Given the description of an element on the screen output the (x, y) to click on. 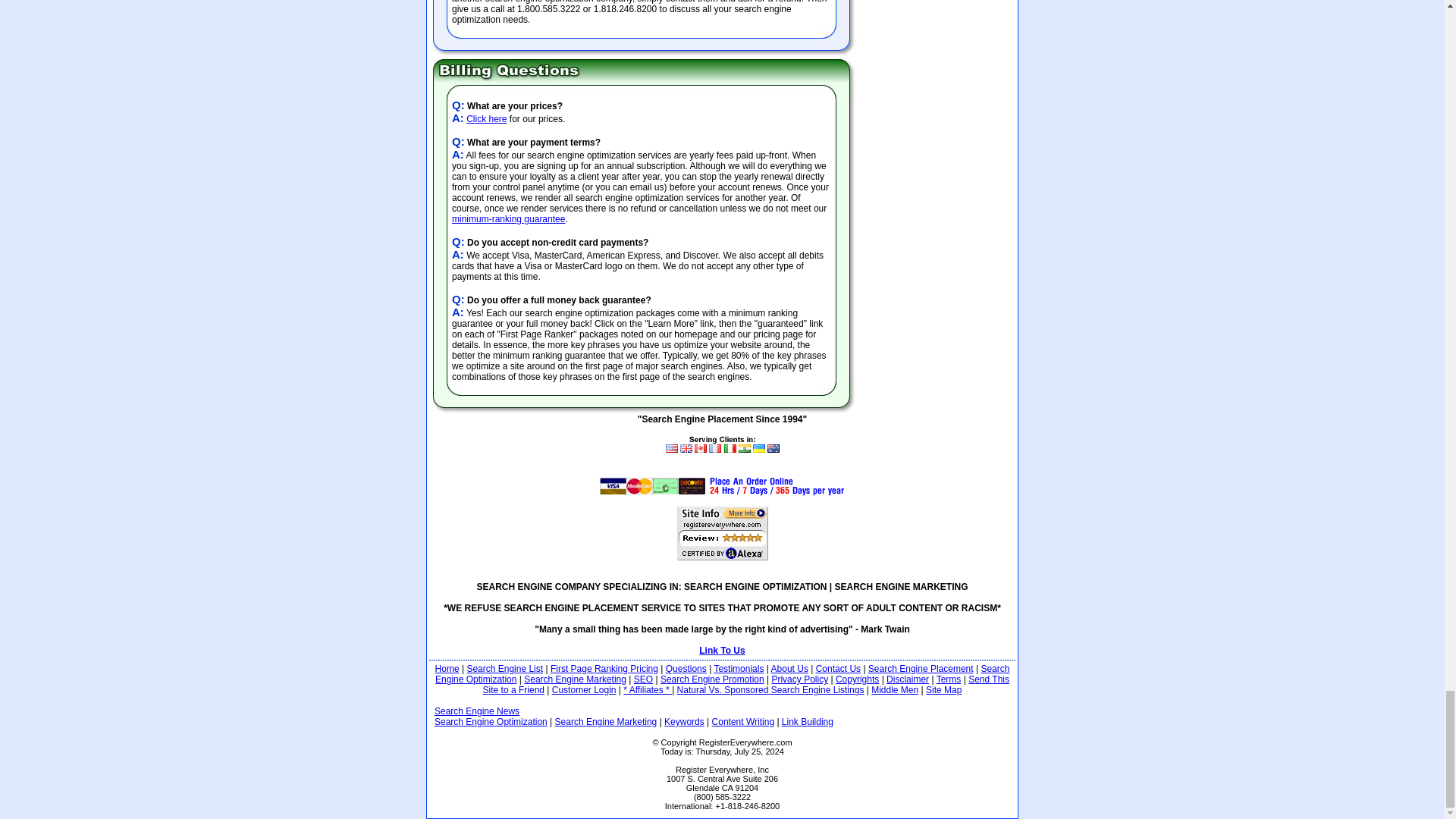
Click here (485, 118)
minimum-ranking guarantee (507, 218)
